Given the description of an element on the screen output the (x, y) to click on. 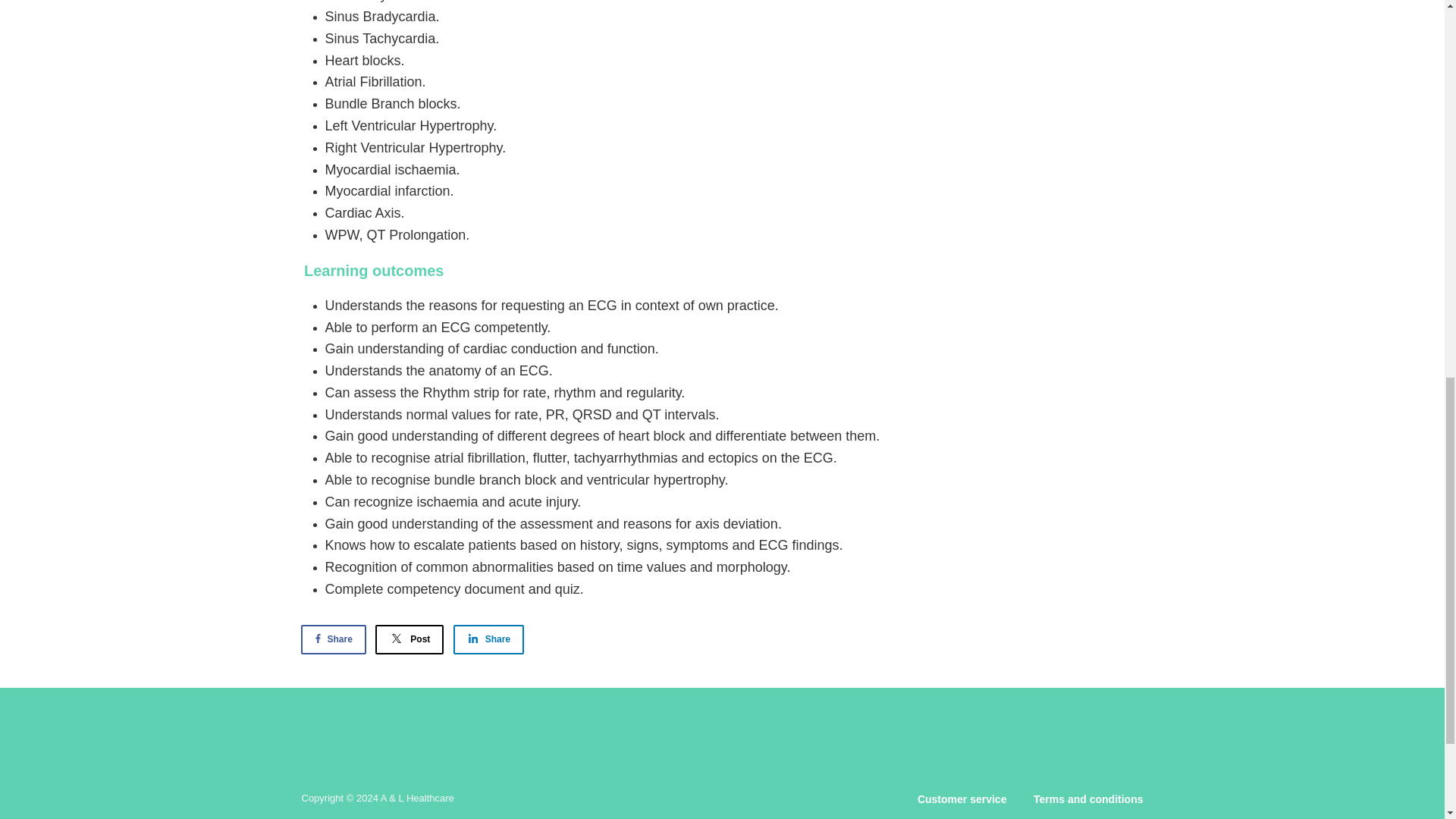
Share on Facebook (332, 639)
Post on X (409, 639)
Share on LinkedIn (488, 639)
